Given the description of an element on the screen output the (x, y) to click on. 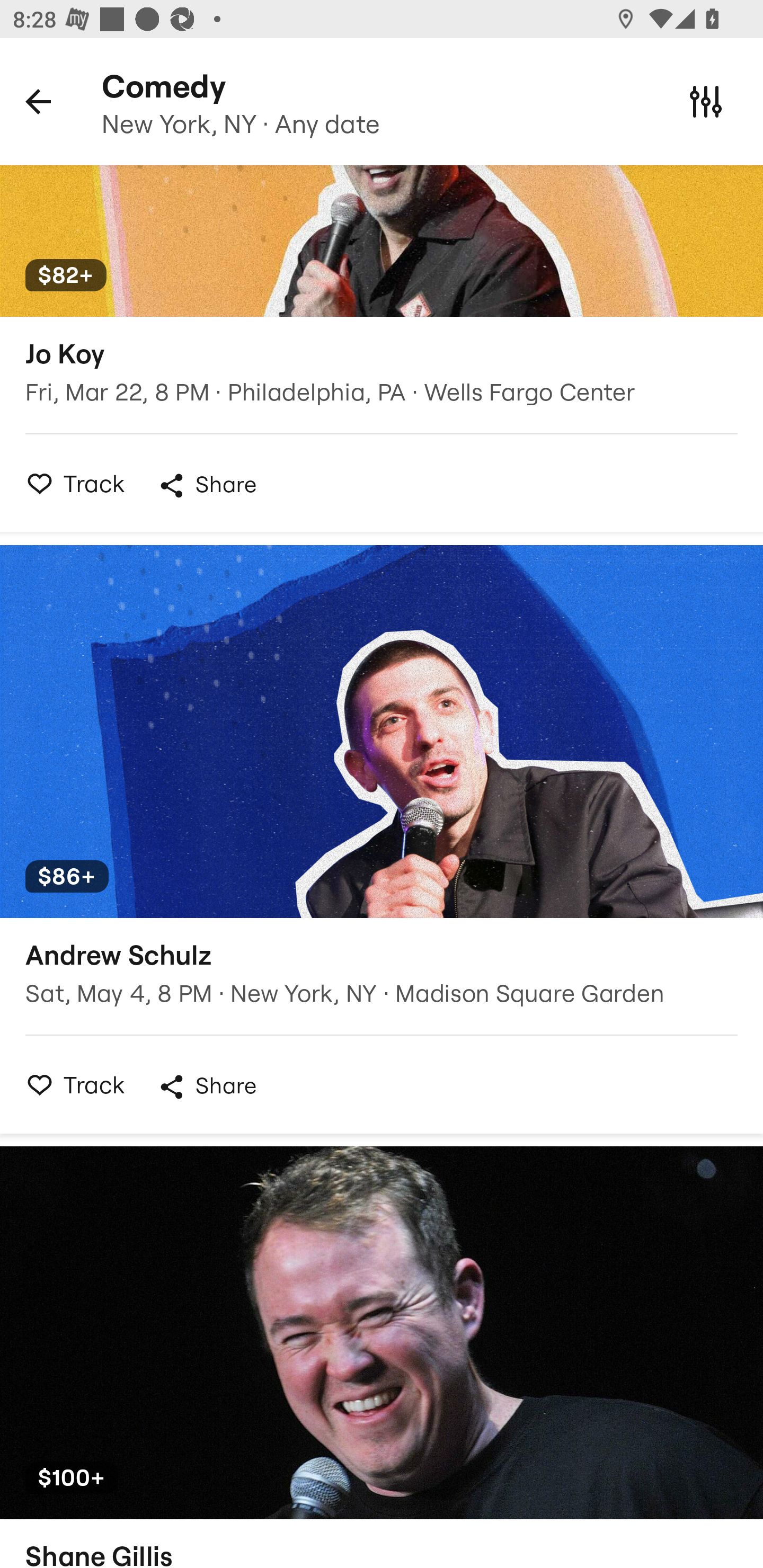
Back (38, 100)
Filters (705, 100)
Track (70, 483)
Share (207, 485)
Track (70, 1083)
Share (207, 1087)
$100+ Shane Gillis (381, 1357)
